Given the description of an element on the screen output the (x, y) to click on. 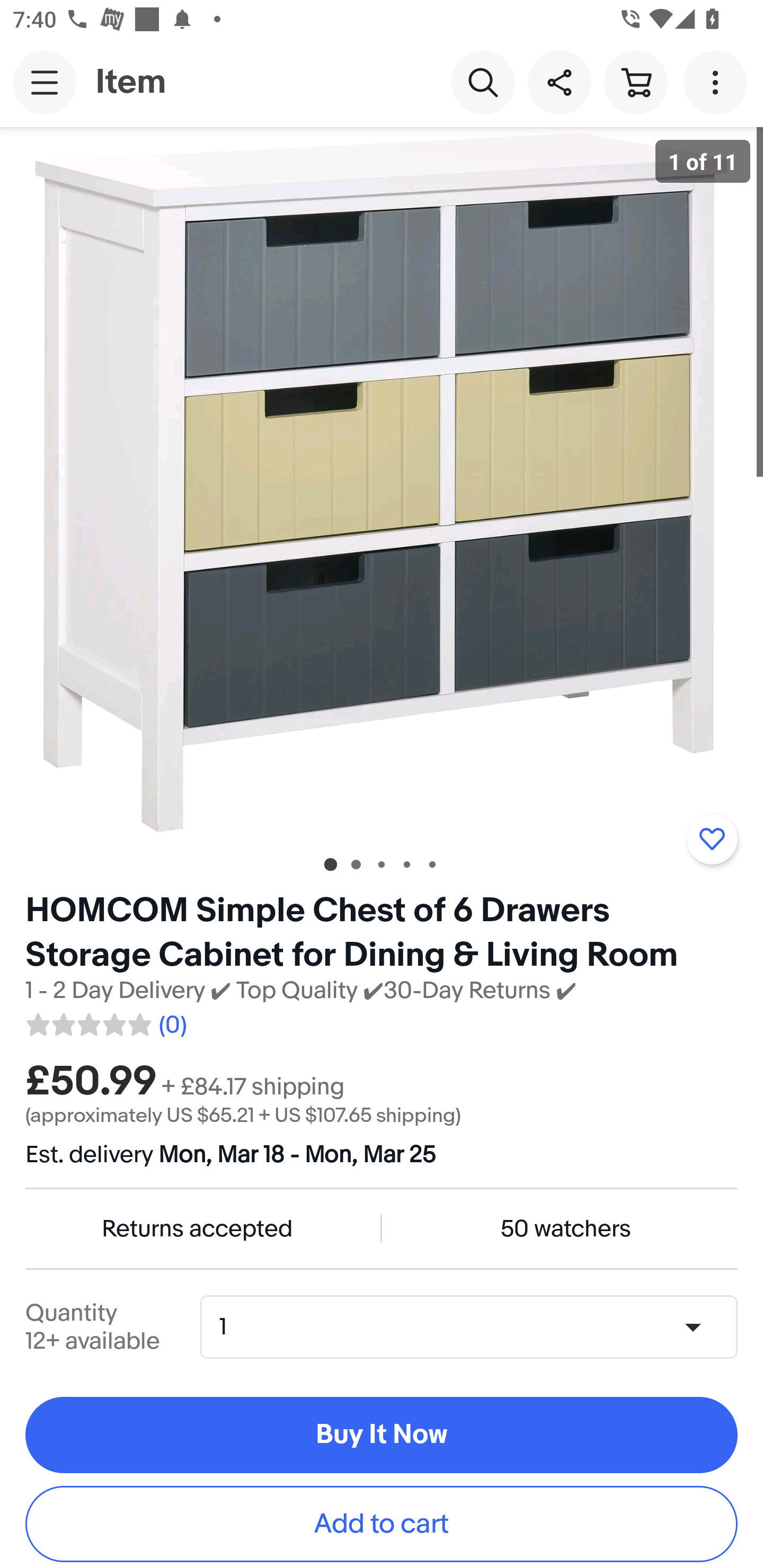
Main navigation, open (44, 82)
Search (482, 81)
Share this item (559, 81)
Cart button shopping cart (635, 81)
More options (718, 81)
Item image 1 of 11 (381, 482)
Add to watchlist (711, 838)
1 - 2 Day Delivery ✔ Top Quality ✔30-Day Returns ✔ (300, 990)
0 reviews. Average rating 0.0 out of five 0.0 (0) (105, 1021)
Quantity,1,12+ available 1 (474, 1326)
Buy It Now (381, 1435)
Add to cart (381, 1523)
